Given the description of an element on the screen output the (x, y) to click on. 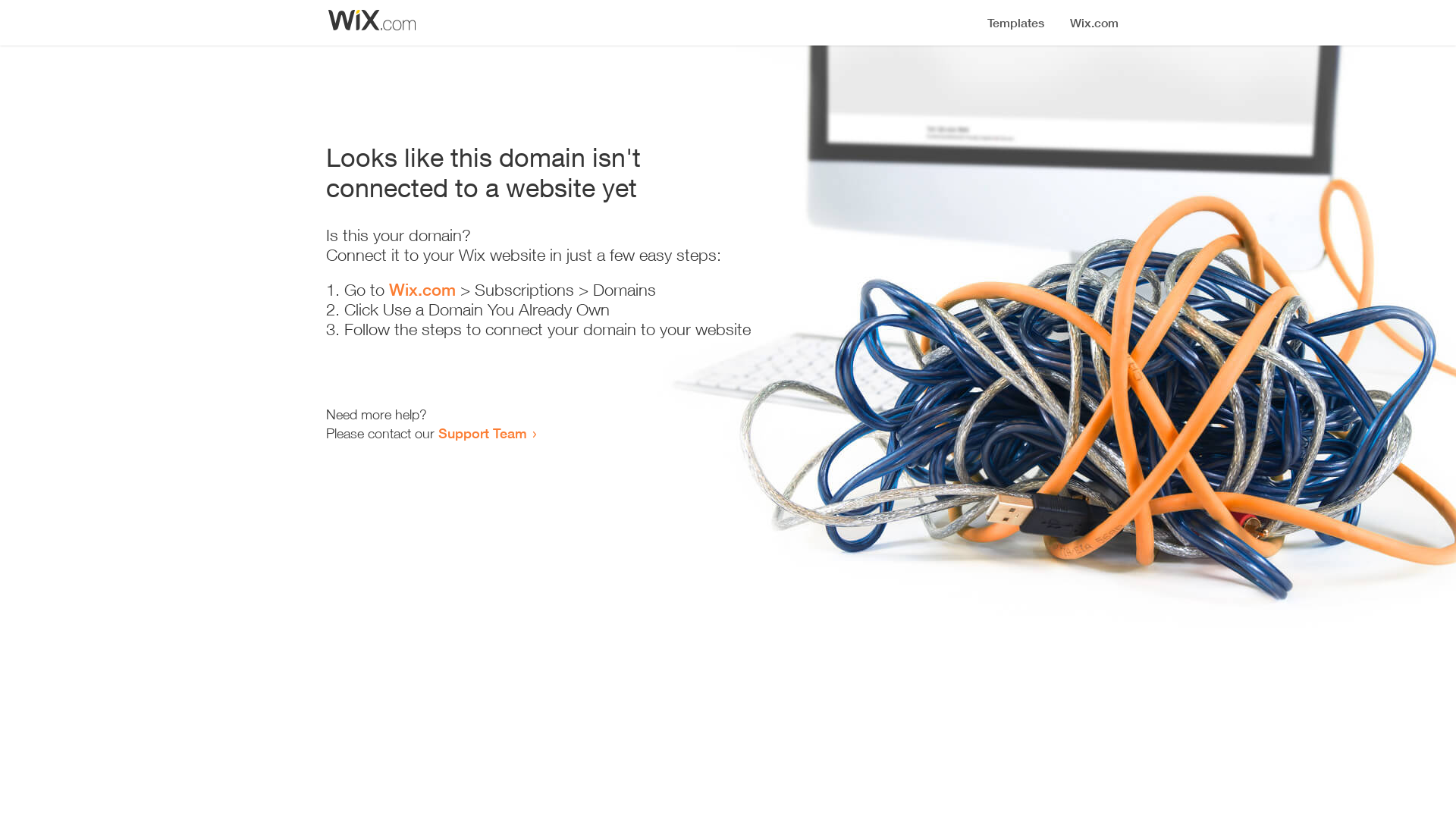
Support Team Element type: text (482, 432)
Wix.com Element type: text (422, 289)
